Given the description of an element on the screen output the (x, y) to click on. 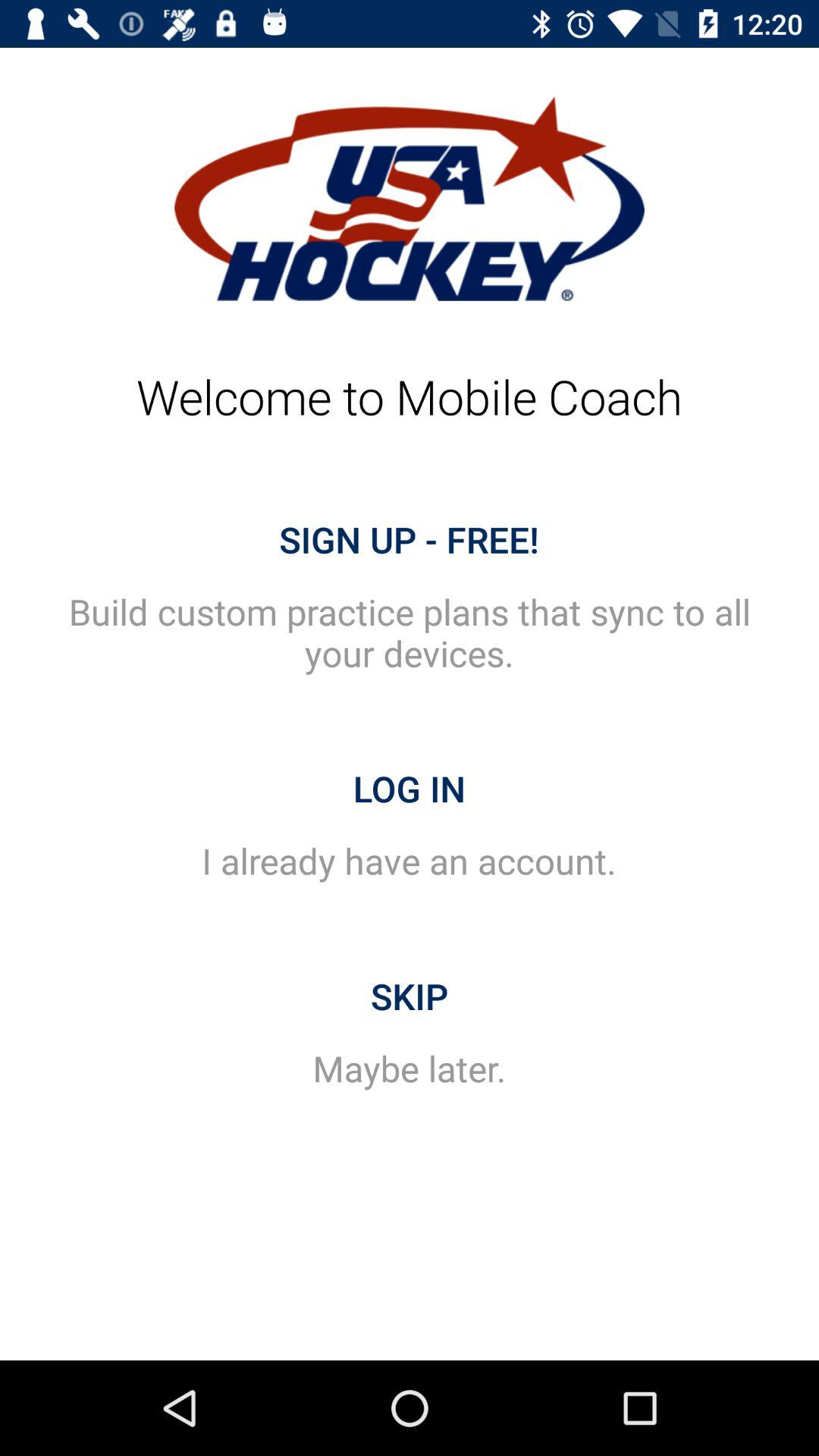
swipe until the log in (409, 788)
